Given the description of an element on the screen output the (x, y) to click on. 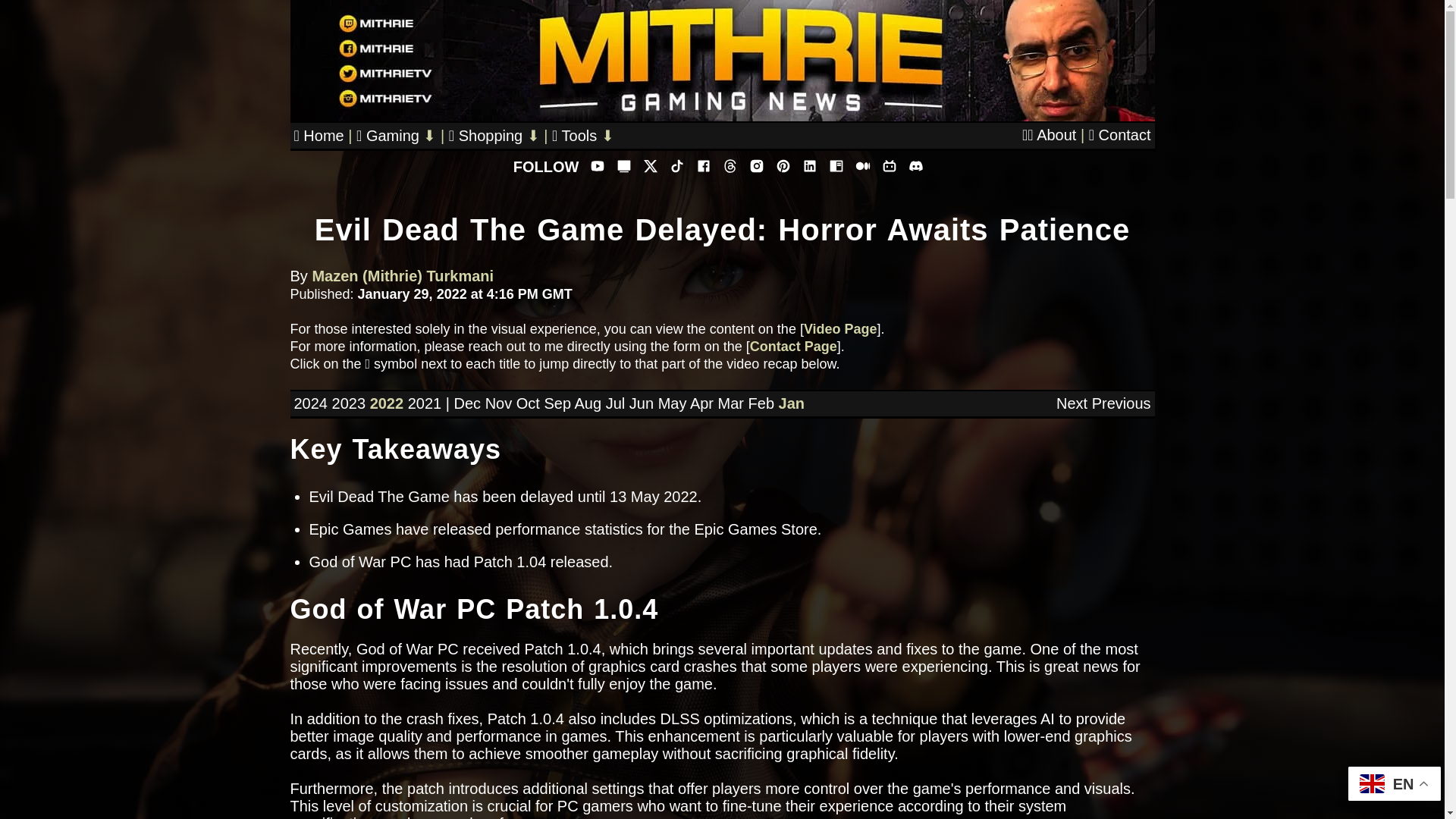
Dec (466, 402)
2023 (348, 402)
2021 (424, 402)
Contact Page (793, 346)
Video Page (840, 328)
2024 (311, 402)
